Given the description of an element on the screen output the (x, y) to click on. 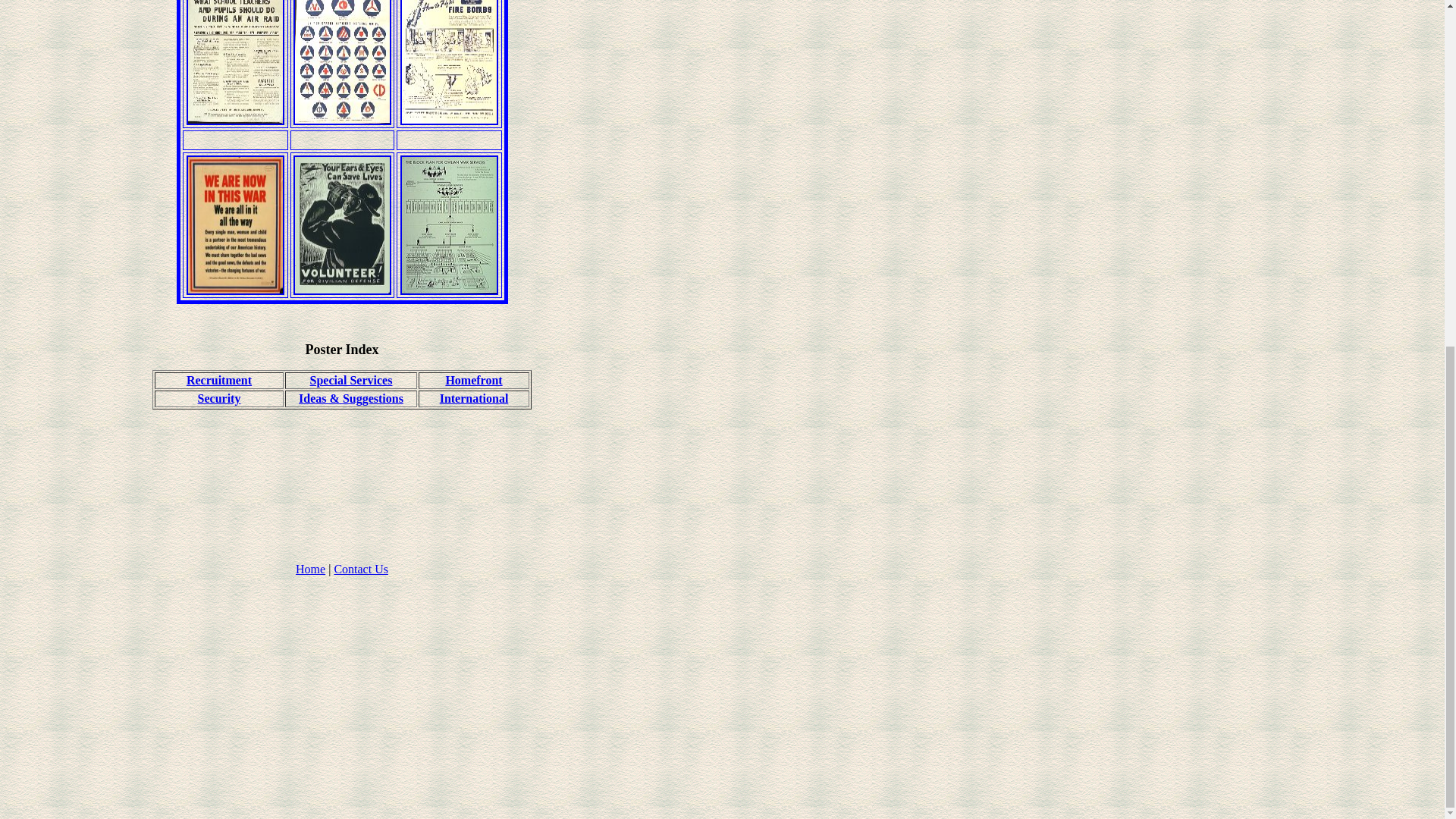
Special Services (351, 379)
Home (309, 568)
Security (219, 398)
International (473, 398)
Recruitment (218, 379)
Advertisement (341, 527)
Homefront (473, 379)
Contact Us (360, 568)
